Given the description of an element on the screen output the (x, y) to click on. 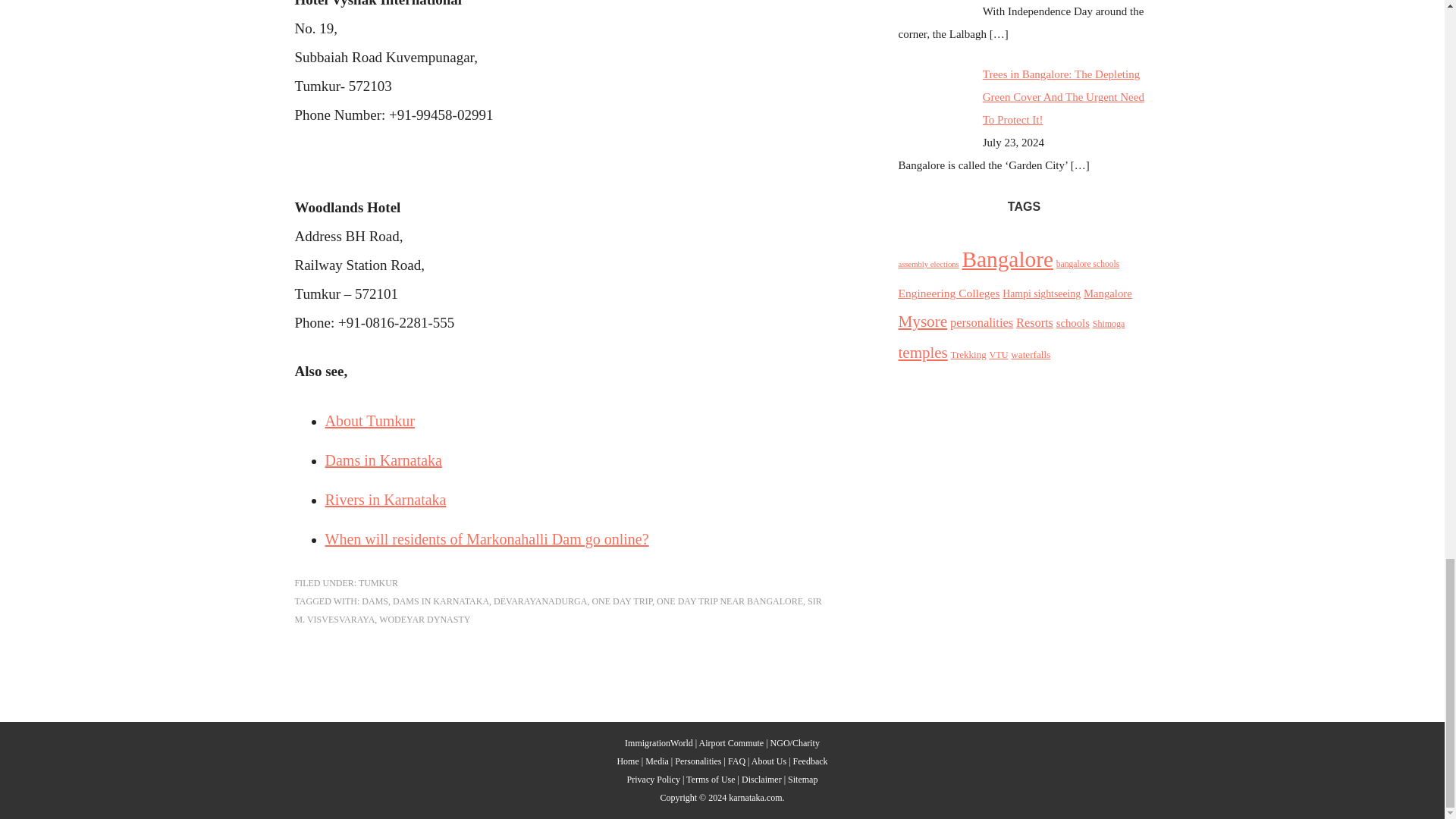
ONE DAY TRIP (621, 601)
When will residents of Markonahalli Dam go online? (485, 538)
DAMS IN KARNATAKA (441, 601)
ONE DAY TRIP NEAR BANGALORE (729, 601)
TUMKUR (377, 583)
Dams in Karnataka (382, 460)
Rivers in Karnataka (384, 499)
About Tumkur (368, 420)
SIR M. VISVESVARAYA (557, 610)
DAMS (374, 601)
